Given the description of an element on the screen output the (x, y) to click on. 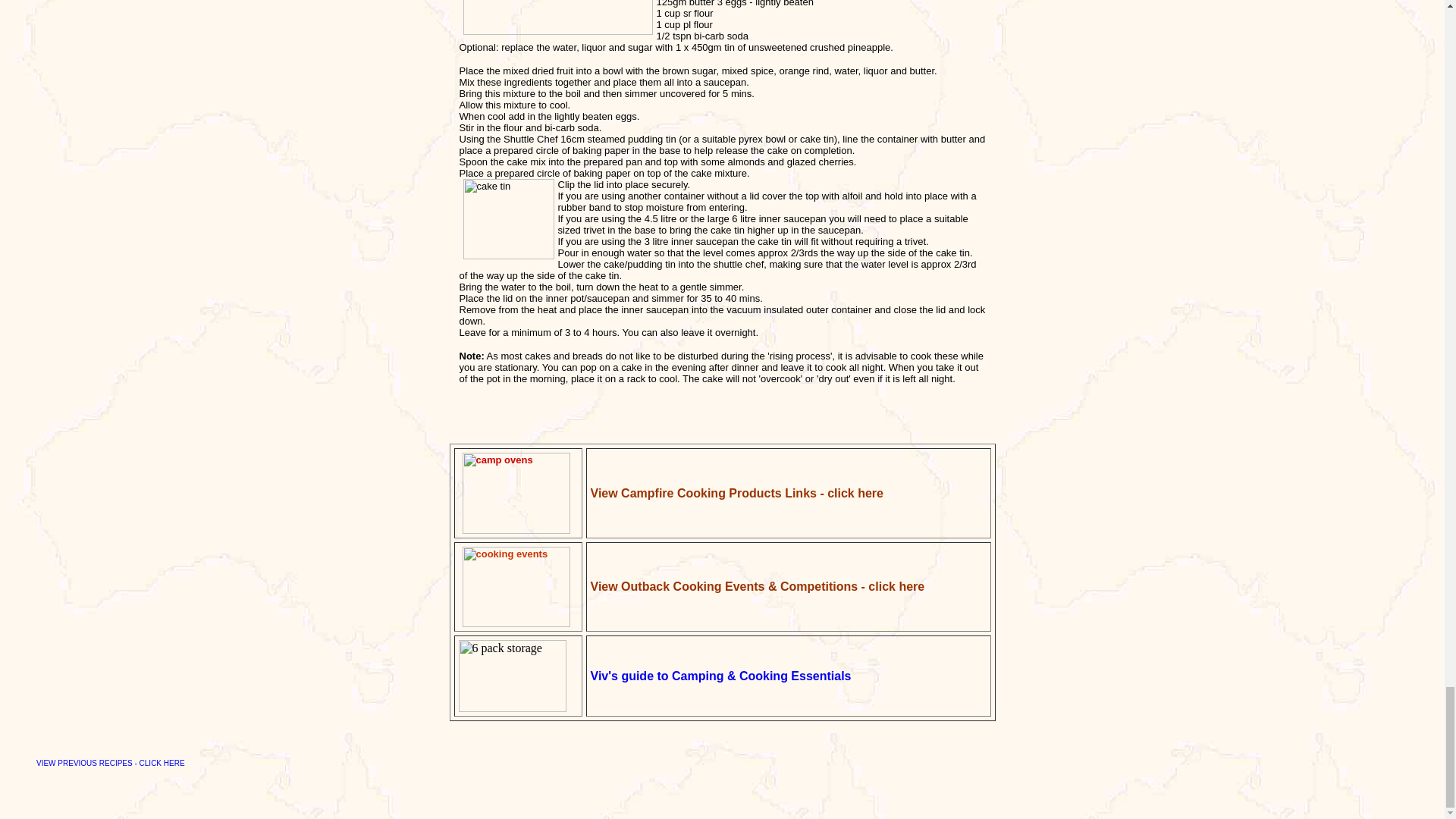
View Campfire Cooking Products Links - click here (735, 492)
